Given the description of an element on the screen output the (x, y) to click on. 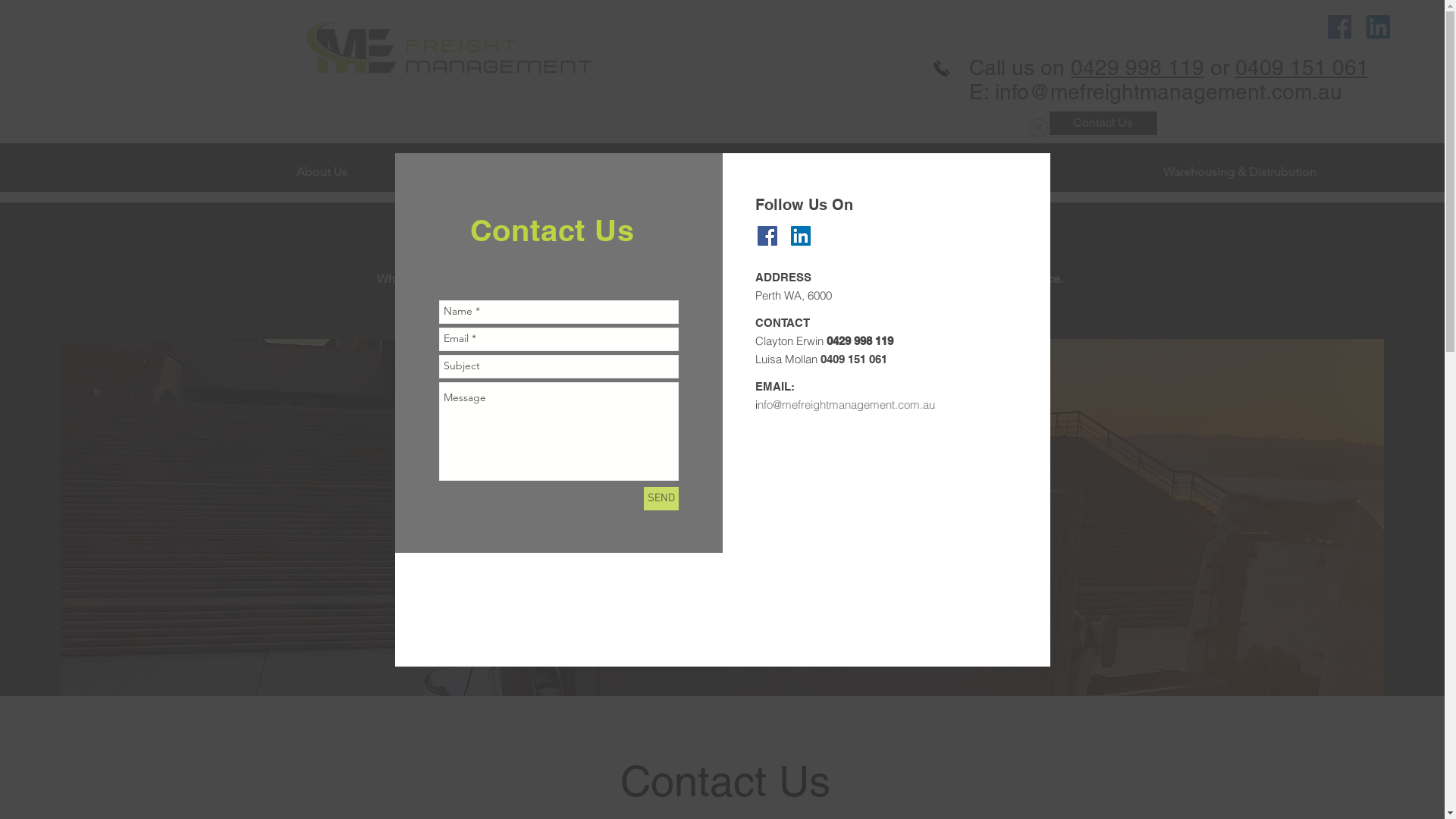
Import and Export Element type: text (1010, 171)
Home Element type: text (144, 171)
info@mefreightmanagement.com.au Element type: text (1168, 91)
Google Maps Element type: hover (886, 543)
Transport Services Element type: text (721, 171)
SEND Element type: text (660, 498)
0429 998 119 Element type: text (1137, 67)
Warehousing & Distrubution Element type: text (1299, 171)
About Us Element type: text (432, 171)
nfo@mefreightmanagement.com.au Element type: text (845, 404)
0409 151 061 Element type: text (1301, 67)
Back to site Element type: hover (1037, 127)
LOGISTICS SERVICES Element type: text (728, 235)
Contact Us Element type: text (1103, 122)
